Given the description of an element on the screen output the (x, y) to click on. 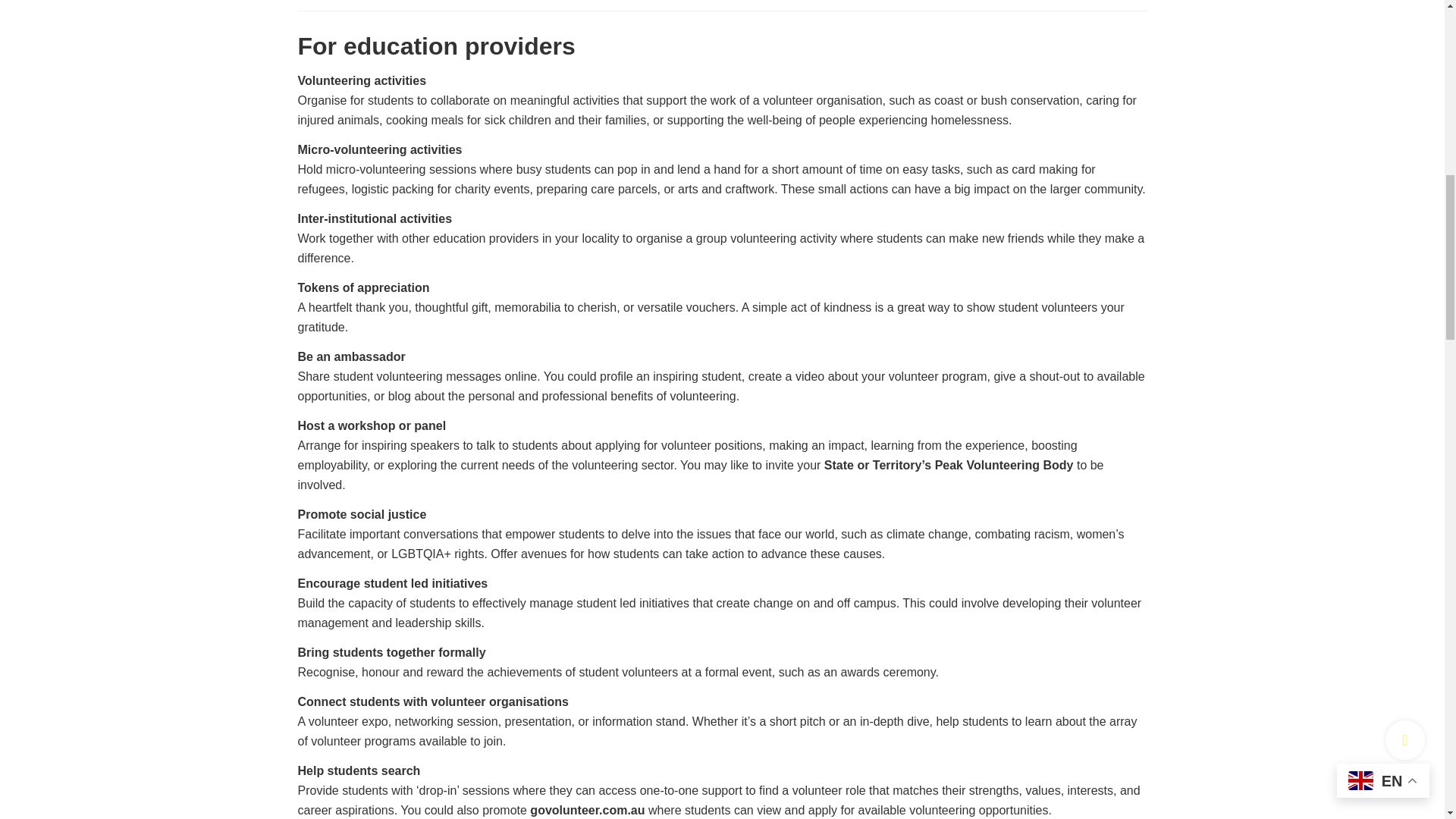
govolunteer.com.au (587, 809)
